Given the description of an element on the screen output the (x, y) to click on. 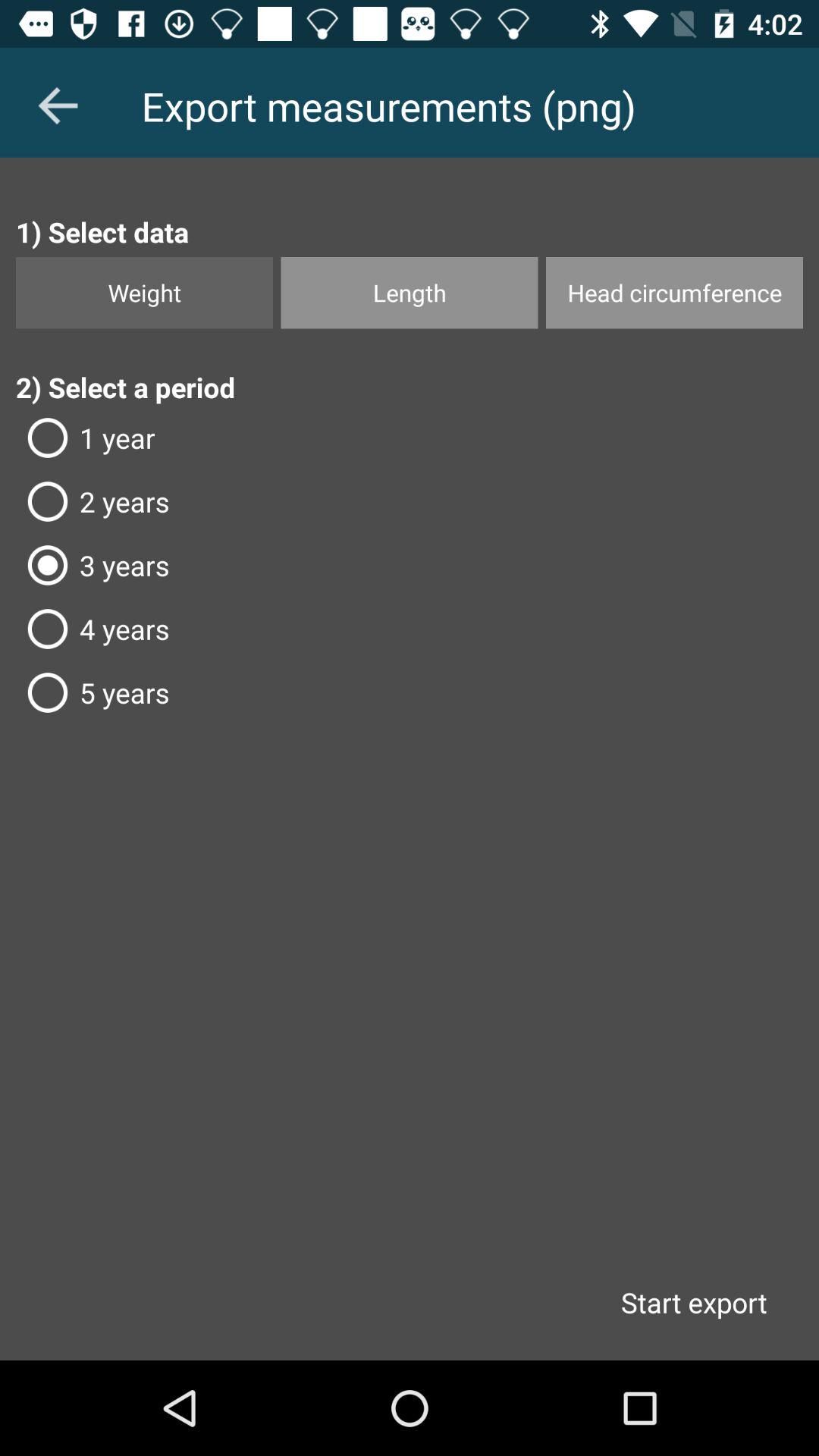
turn on the item below 2 select a (409, 437)
